Given the description of an element on the screen output the (x, y) to click on. 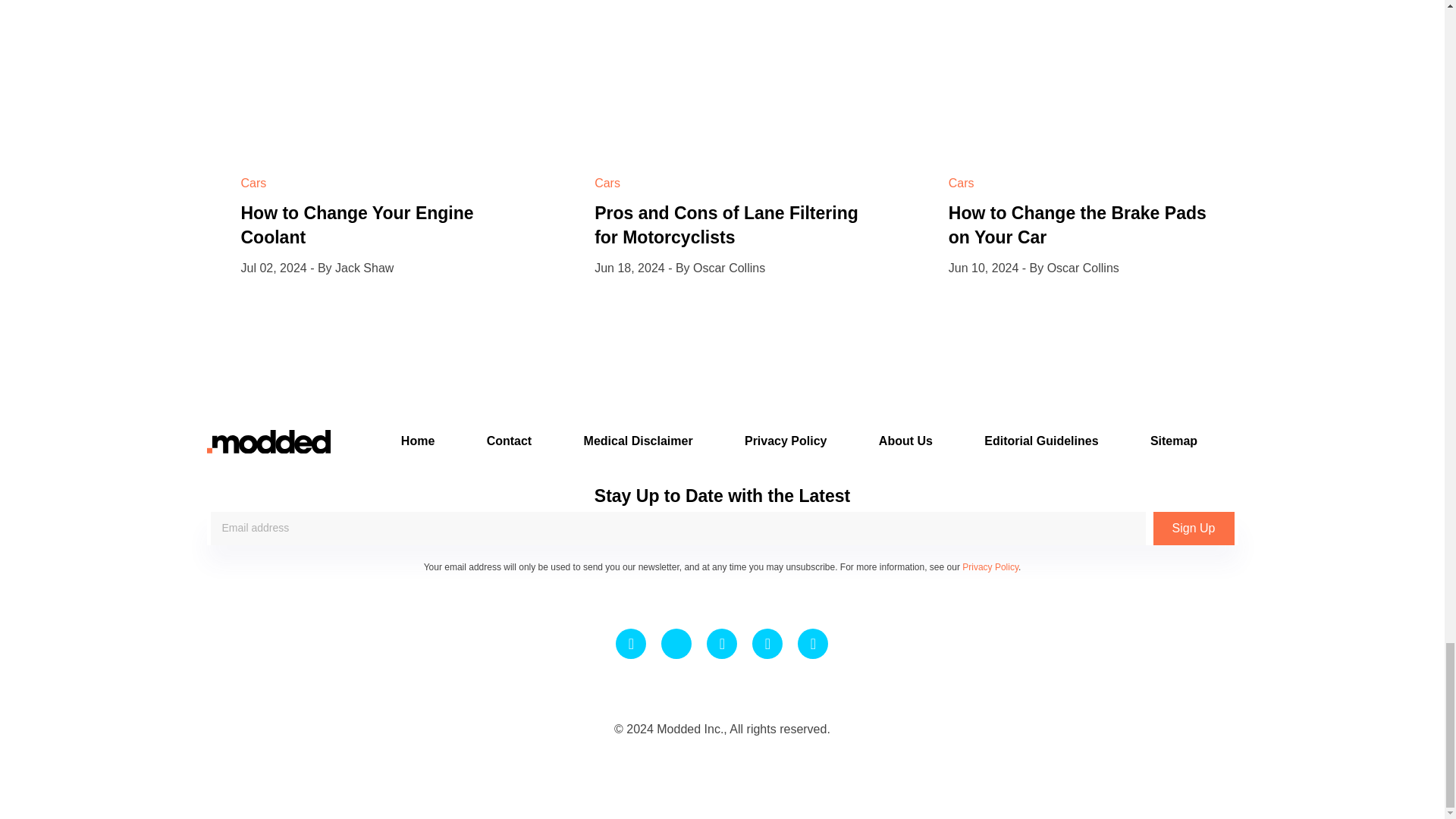
How to Change Your Engine Coolant (357, 225)
How to Change the Brake Pads on Your Car (1078, 225)
x-twitter-white (676, 642)
Pros and Cons of Lane Filtering for Motorcyclists (726, 225)
